Given the description of an element on the screen output the (x, y) to click on. 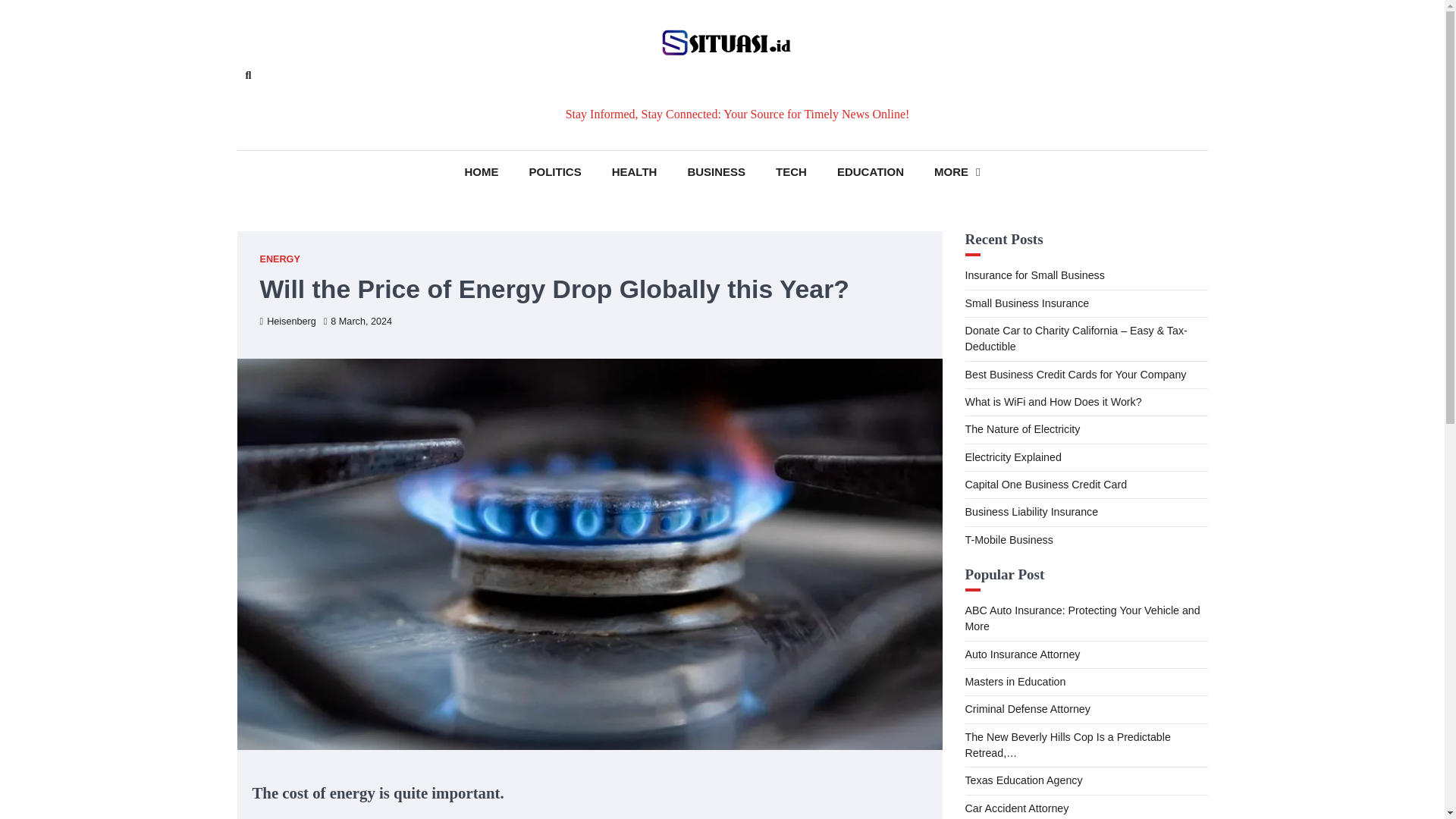
EDUCATION (870, 172)
TECH (791, 172)
ENERGY (279, 259)
MORE (956, 172)
BUSINESS (715, 172)
POLITICS (554, 172)
Search (443, 110)
Search (247, 74)
Heisenberg (287, 321)
HOME (481, 172)
